Given the description of an element on the screen output the (x, y) to click on. 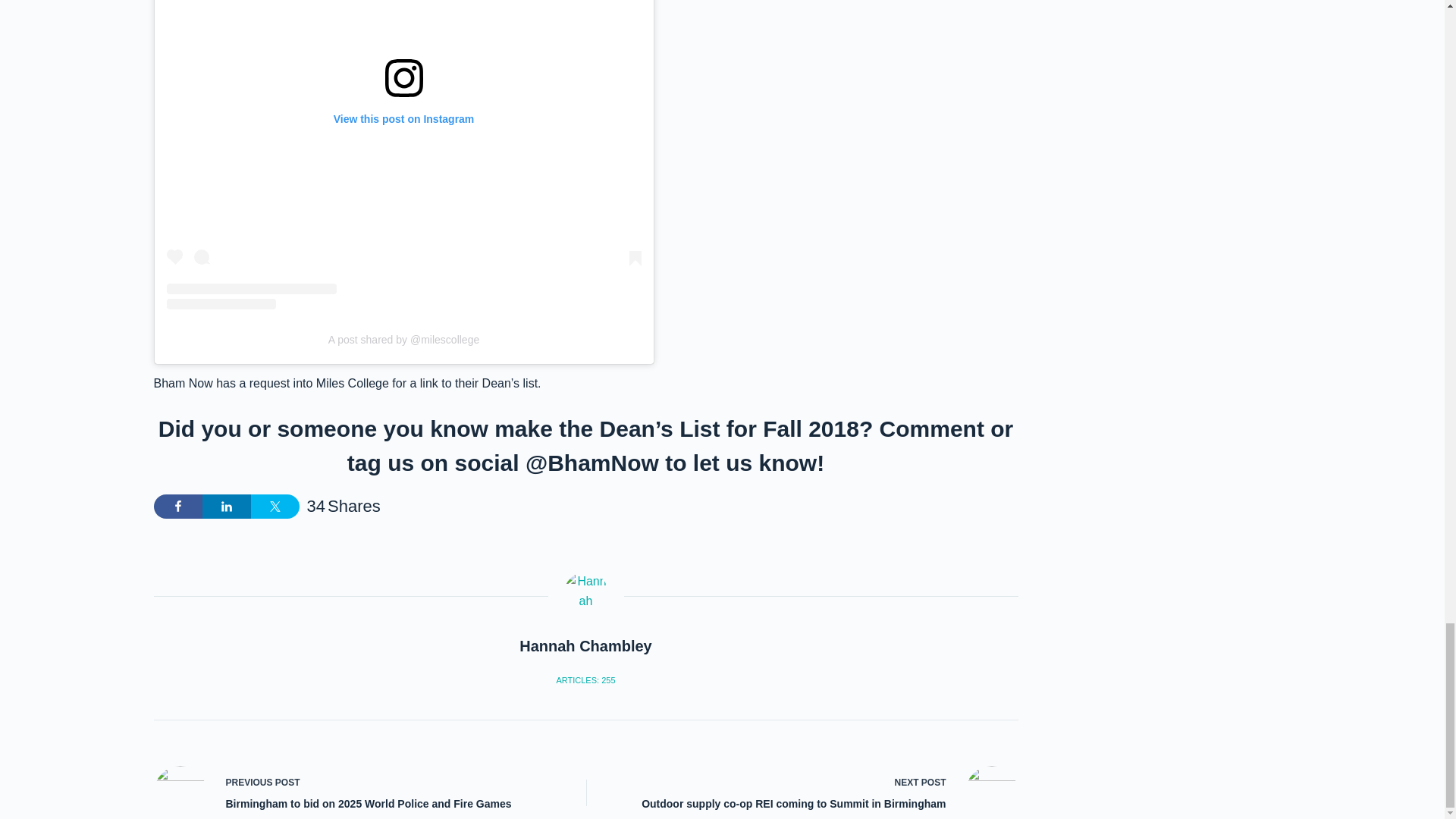
Share on Twitter (274, 506)
Share on LinkedIn (226, 506)
Share on Facebook (177, 506)
